Given the description of an element on the screen output the (x, y) to click on. 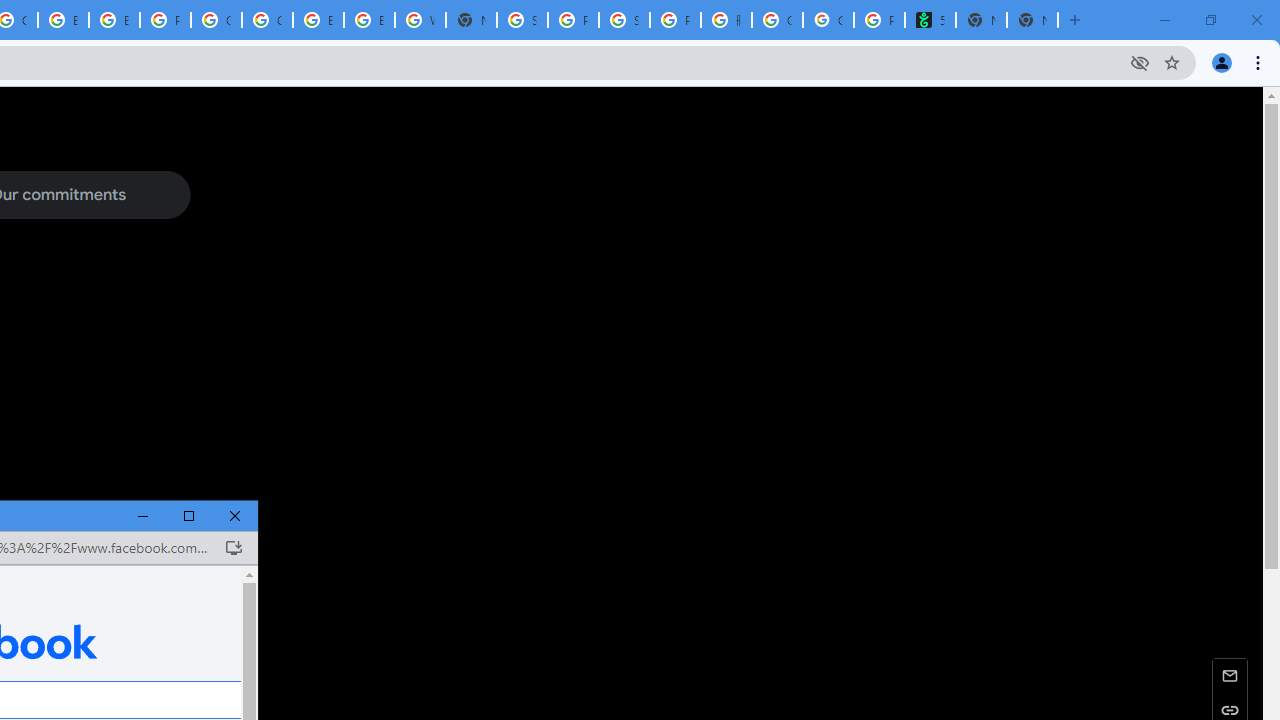
Browse Chrome as a guest - Computer - Google Chrome Help (318, 20)
Google Cloud Platform (267, 20)
New Tab (470, 20)
New Tab (1032, 20)
Share this page (Email) (1230, 674)
Google Cloud Platform (215, 20)
